Given the description of an element on the screen output the (x, y) to click on. 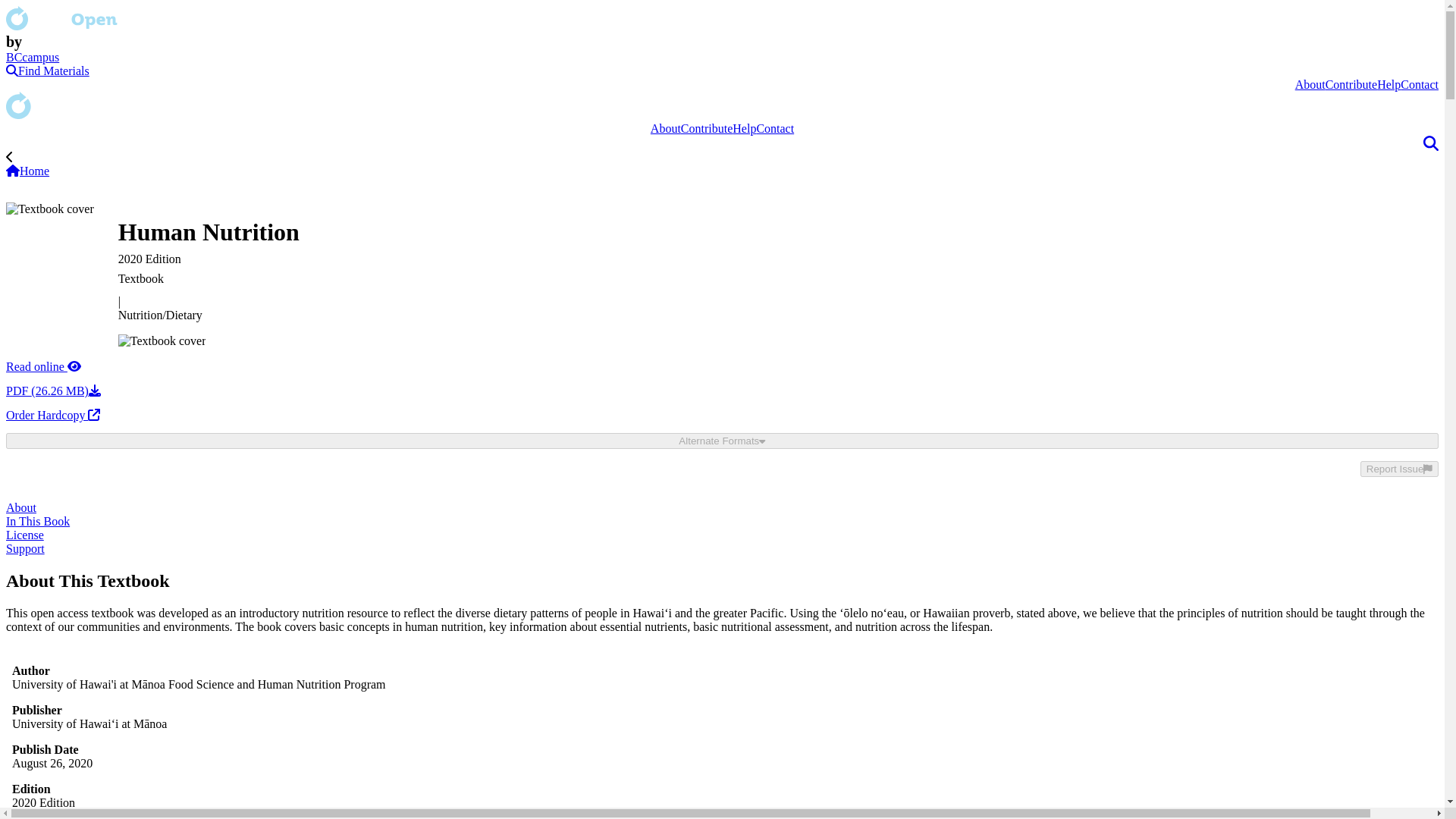
Contact (774, 128)
Find Materials (46, 70)
Order Hardcopy (52, 414)
About (1309, 83)
Contribute (1350, 83)
Home (27, 170)
In This Book (37, 521)
Support (25, 548)
Help (743, 128)
BCcampus (32, 56)
Help (1388, 83)
About (665, 128)
Report Issue (1398, 468)
About (20, 507)
